Given the description of an element on the screen output the (x, y) to click on. 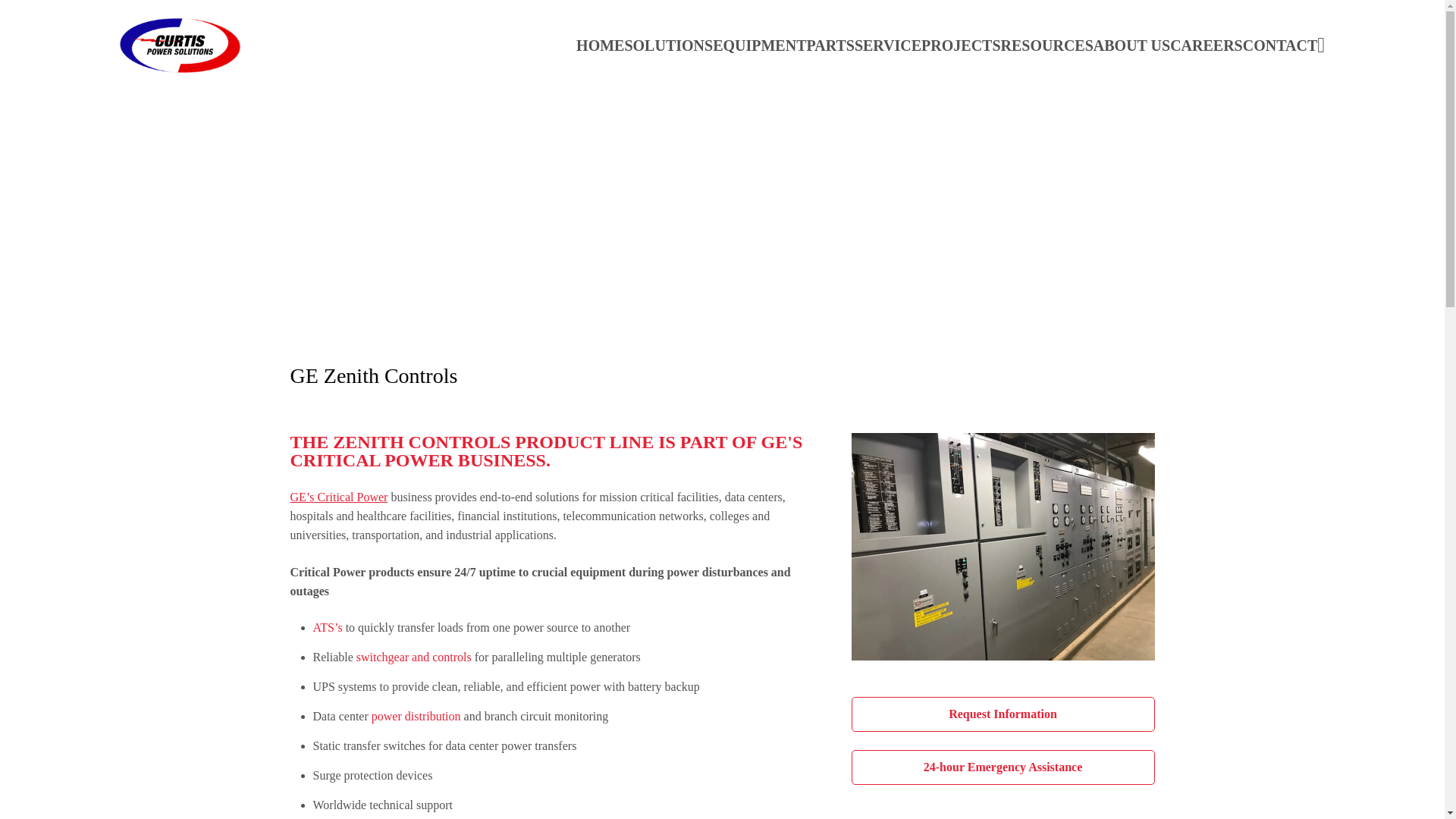
SERVICE (887, 45)
ABOUT US (1131, 45)
PROJECTS (960, 45)
Request Information (1002, 714)
EQUIPMENT (759, 45)
PARTS (829, 45)
CONTACT (1280, 45)
24-hour Emergency Assistance (1002, 767)
HOME (600, 45)
SOLUTIONS (668, 45)
